Given the description of an element on the screen output the (x, y) to click on. 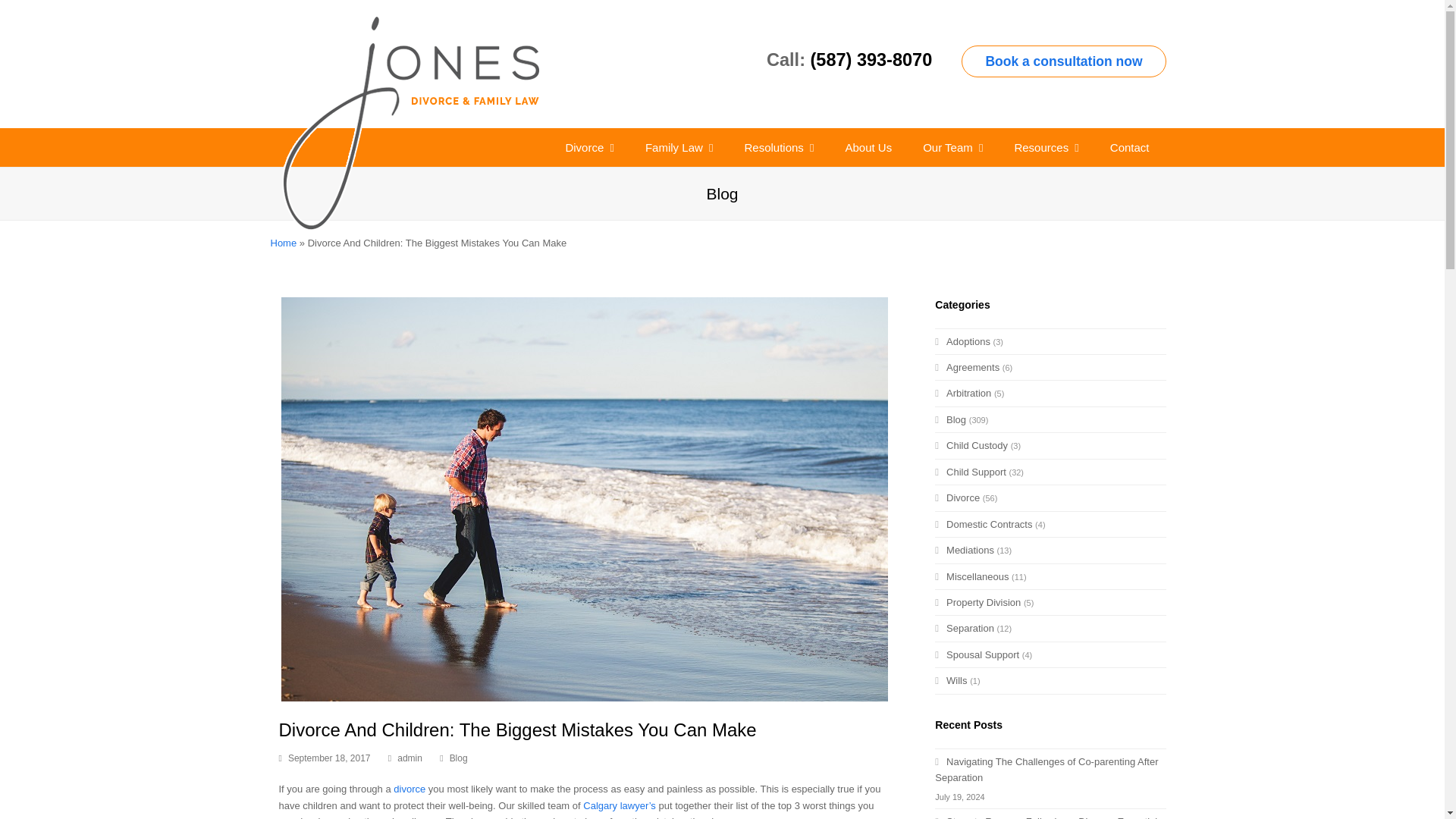
Divorce (589, 147)
Resolutions (778, 147)
Book a consultation now (1063, 60)
Family Law (679, 147)
Our Team (952, 147)
About Us (868, 147)
Posts by admin (409, 757)
